Given the description of an element on the screen output the (x, y) to click on. 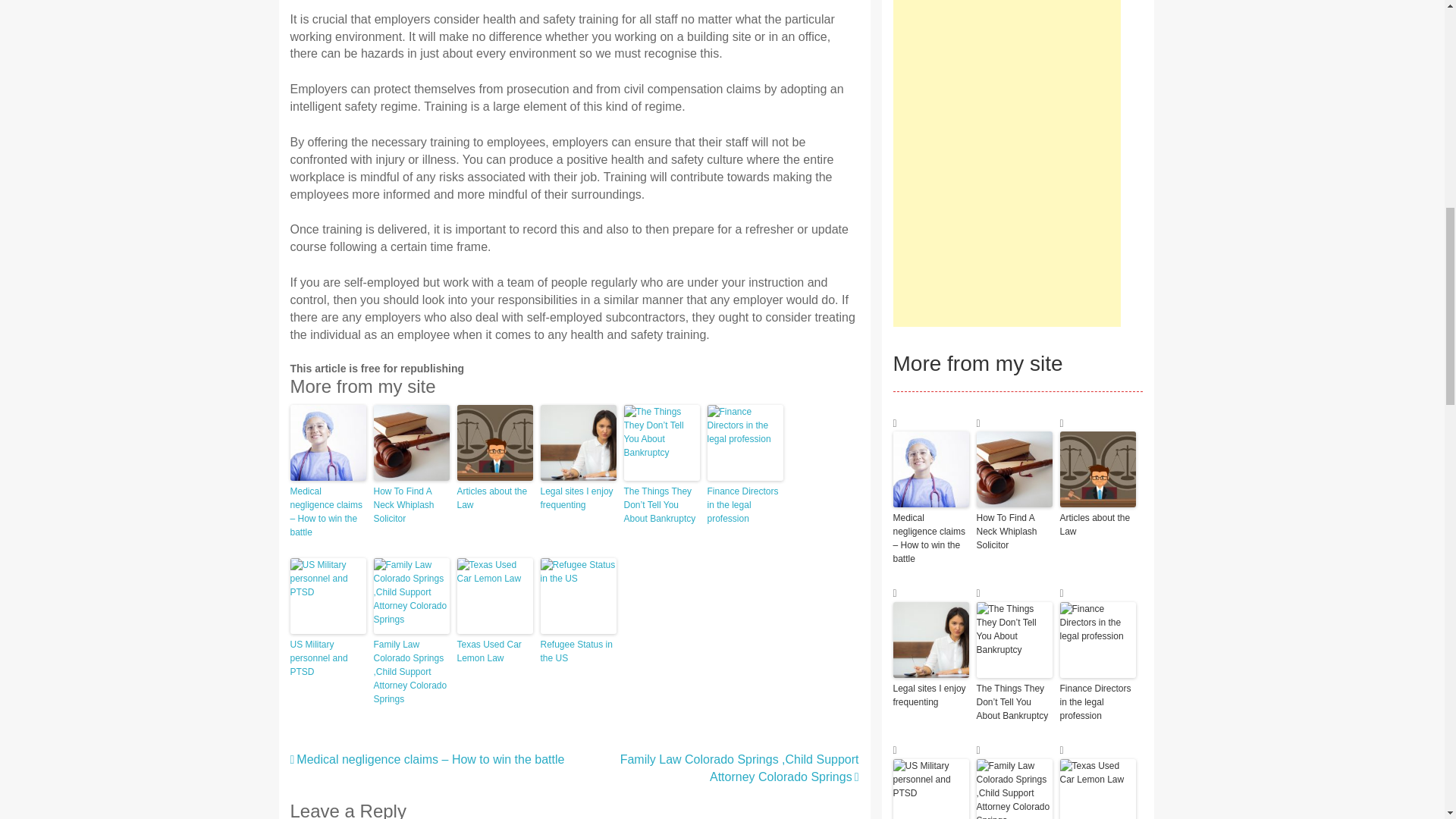
Articles about the Law (494, 497)
How To Find A Neck Whiplash Solicitor (410, 504)
Legal sites I enjoy frequenting (577, 497)
Refugee Status in the US (577, 651)
Texas Used Car Lemon Law (494, 651)
US Military personnel and PTSD (327, 658)
Finance Directors in the legal profession (744, 504)
